Given the description of an element on the screen output the (x, y) to click on. 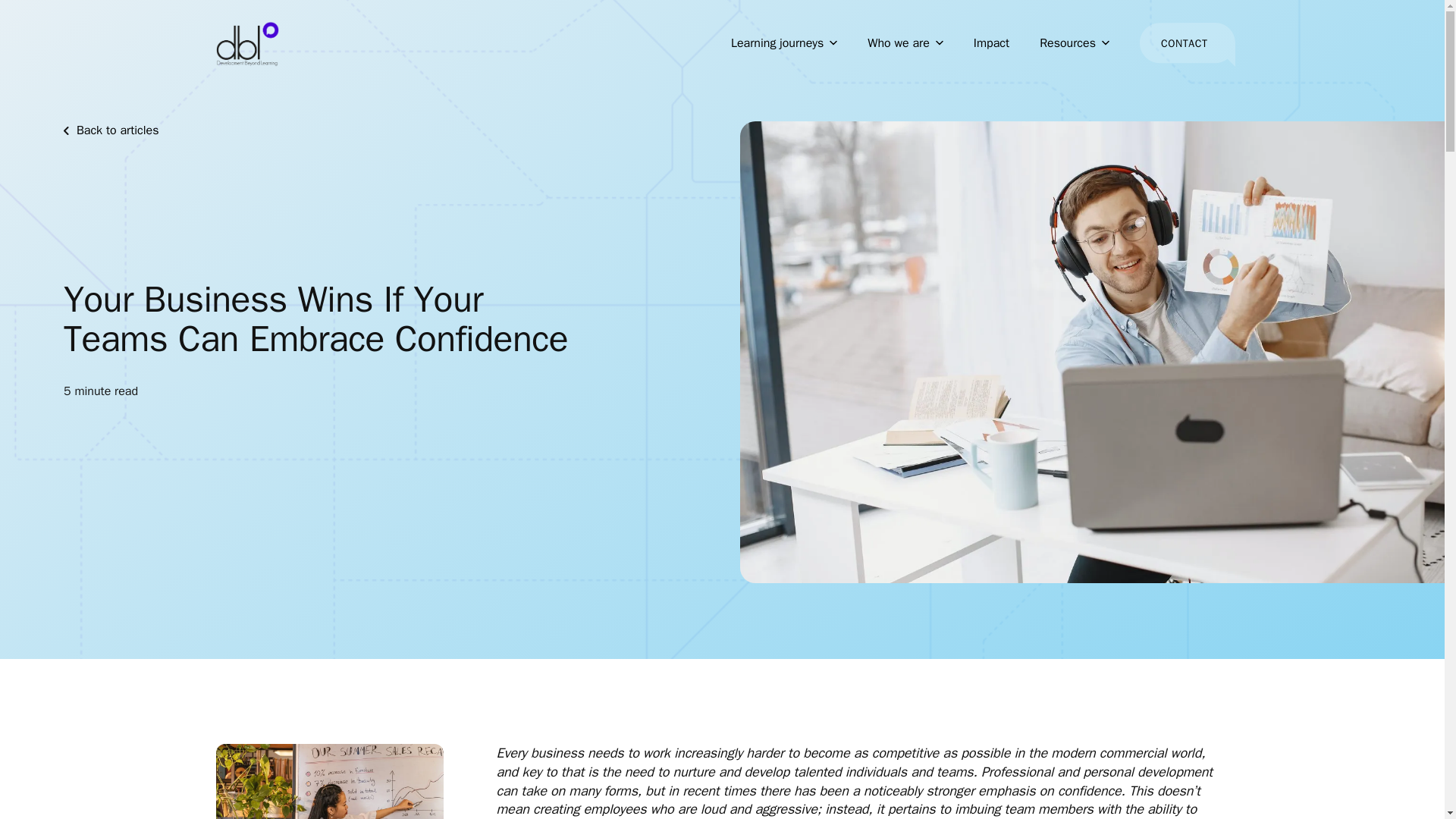
Resources (1074, 43)
Back to articles (111, 130)
CONTACT (1184, 43)
Impact (991, 43)
Learning journeys (783, 43)
Development Beyond Learning (247, 43)
Who we are (904, 43)
